Given the description of an element on the screen output the (x, y) to click on. 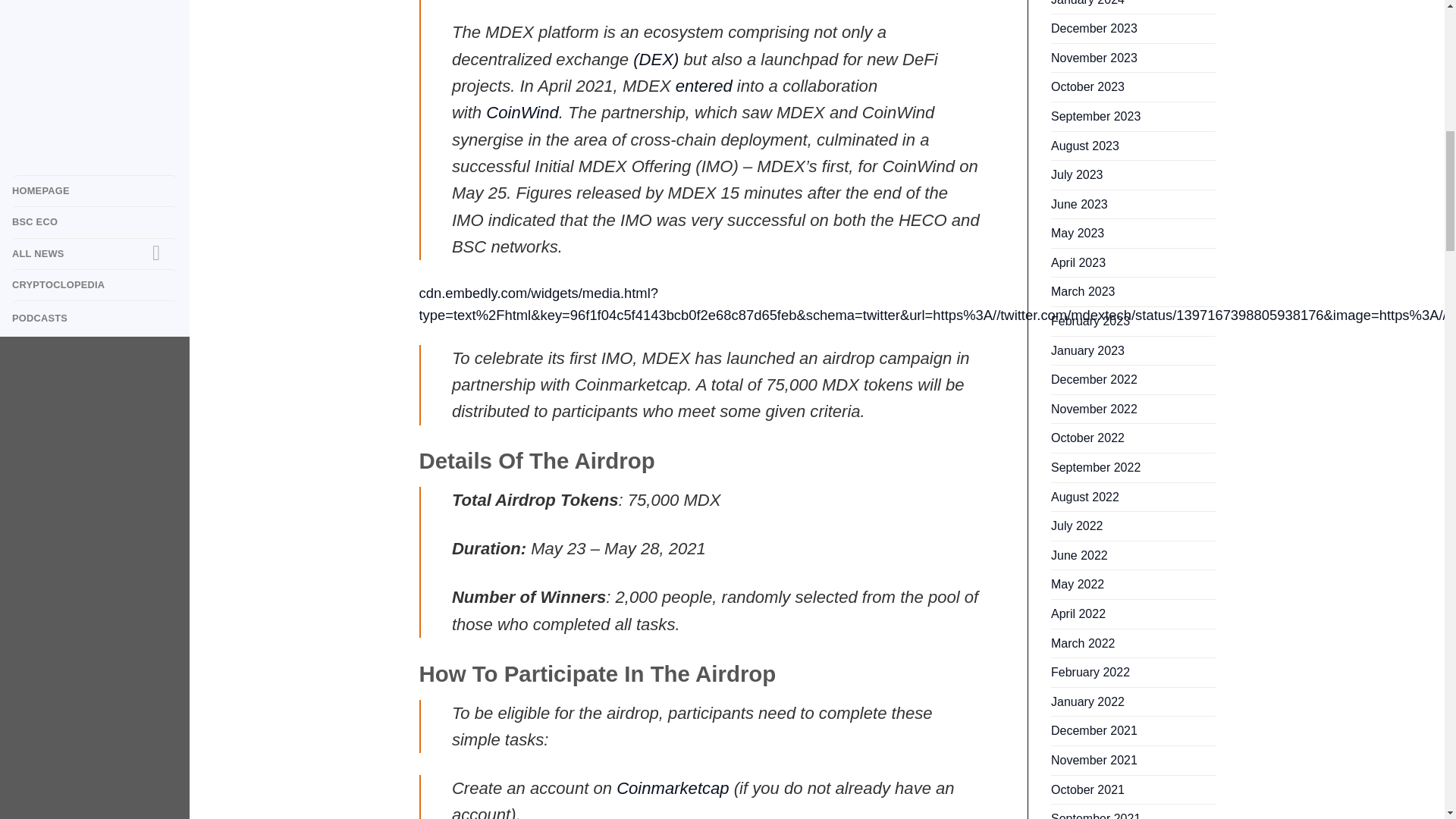
Coinmarketcap (672, 787)
CoinWind (522, 112)
entered (703, 85)
